Given the description of an element on the screen output the (x, y) to click on. 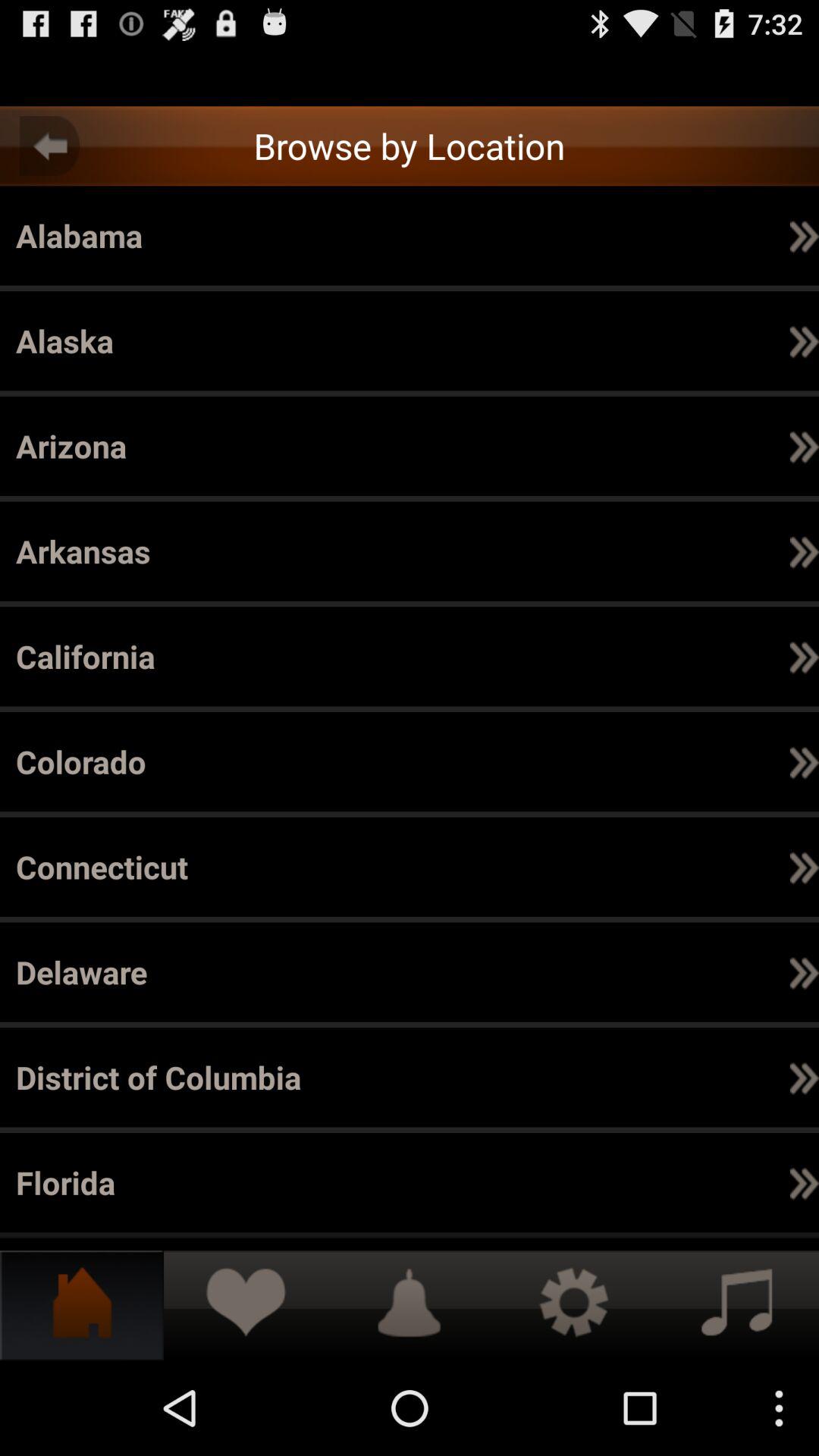
tap the icon below (804, 1182)
